Given the description of an element on the screen output the (x, y) to click on. 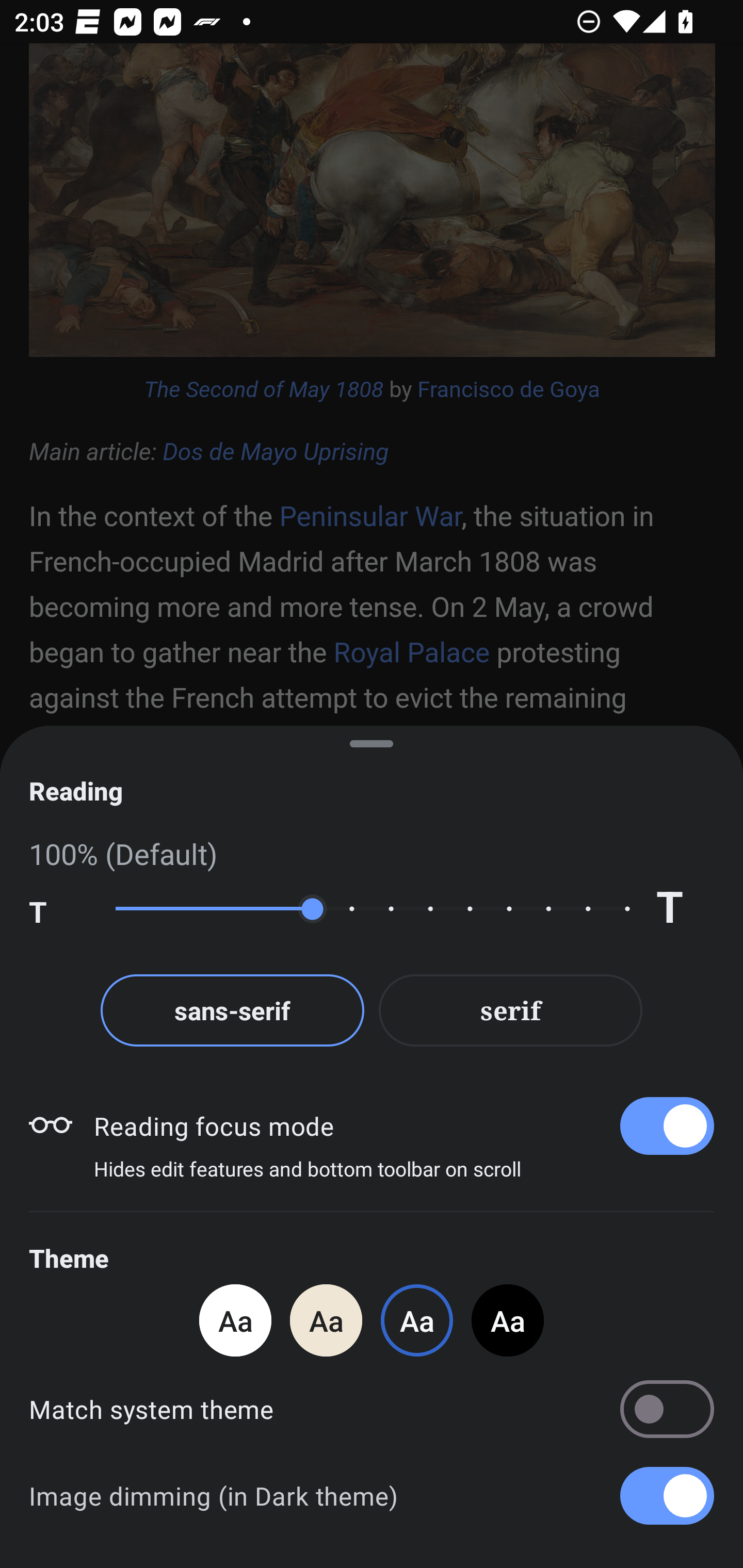
T Decrease text size (57, 909)
T Increase text size (685, 909)
sans-serif (232, 1010)
serif (510, 1010)
Reading focus mode (403, 1125)
Aa (235, 1320)
Aa (325, 1320)
Aa (507, 1320)
Match system theme (371, 1408)
Image dimming (in Dark theme) (371, 1495)
